Given the description of an element on the screen output the (x, y) to click on. 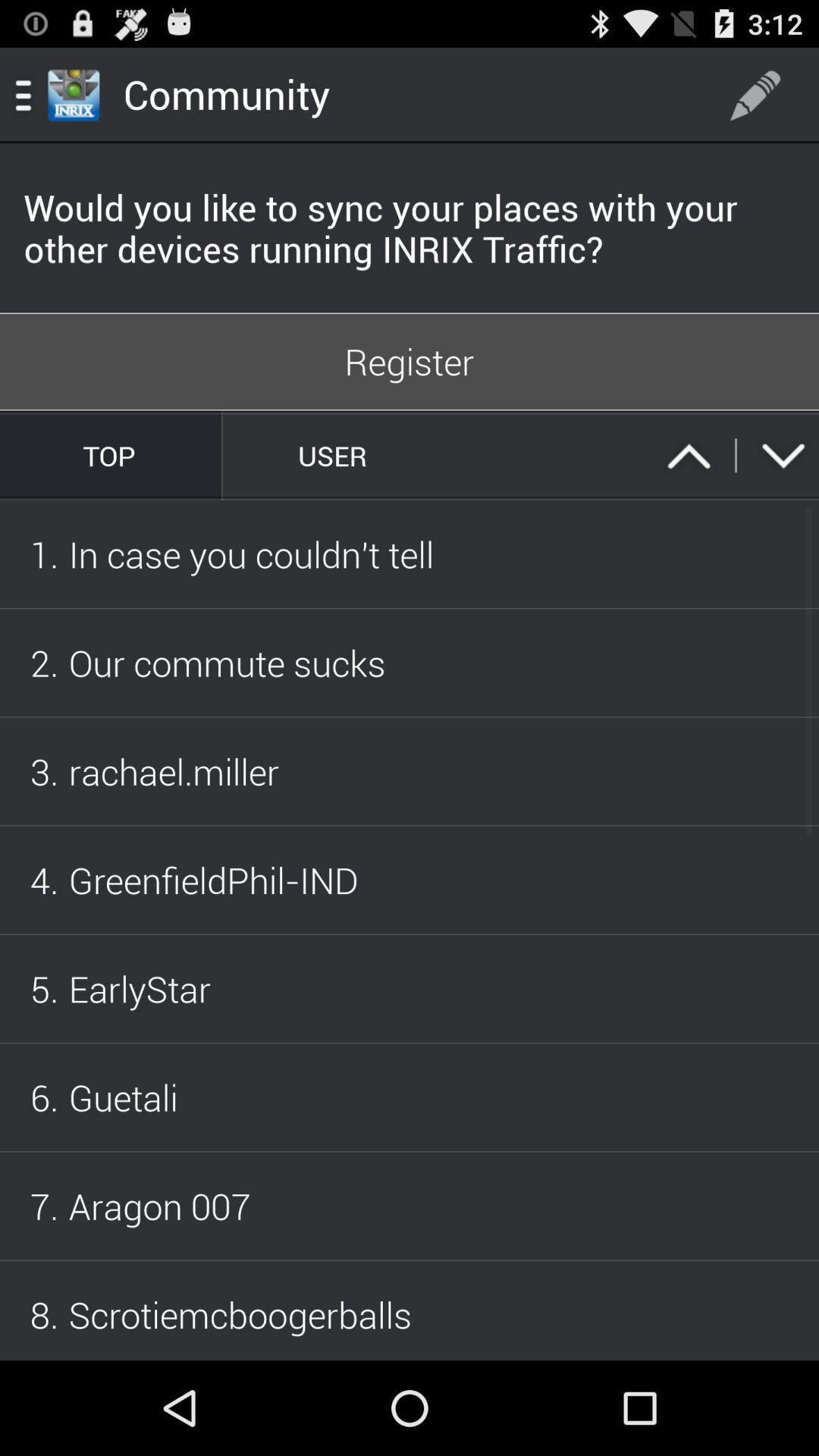
goes up (688, 455)
